Given the description of an element on the screen output the (x, y) to click on. 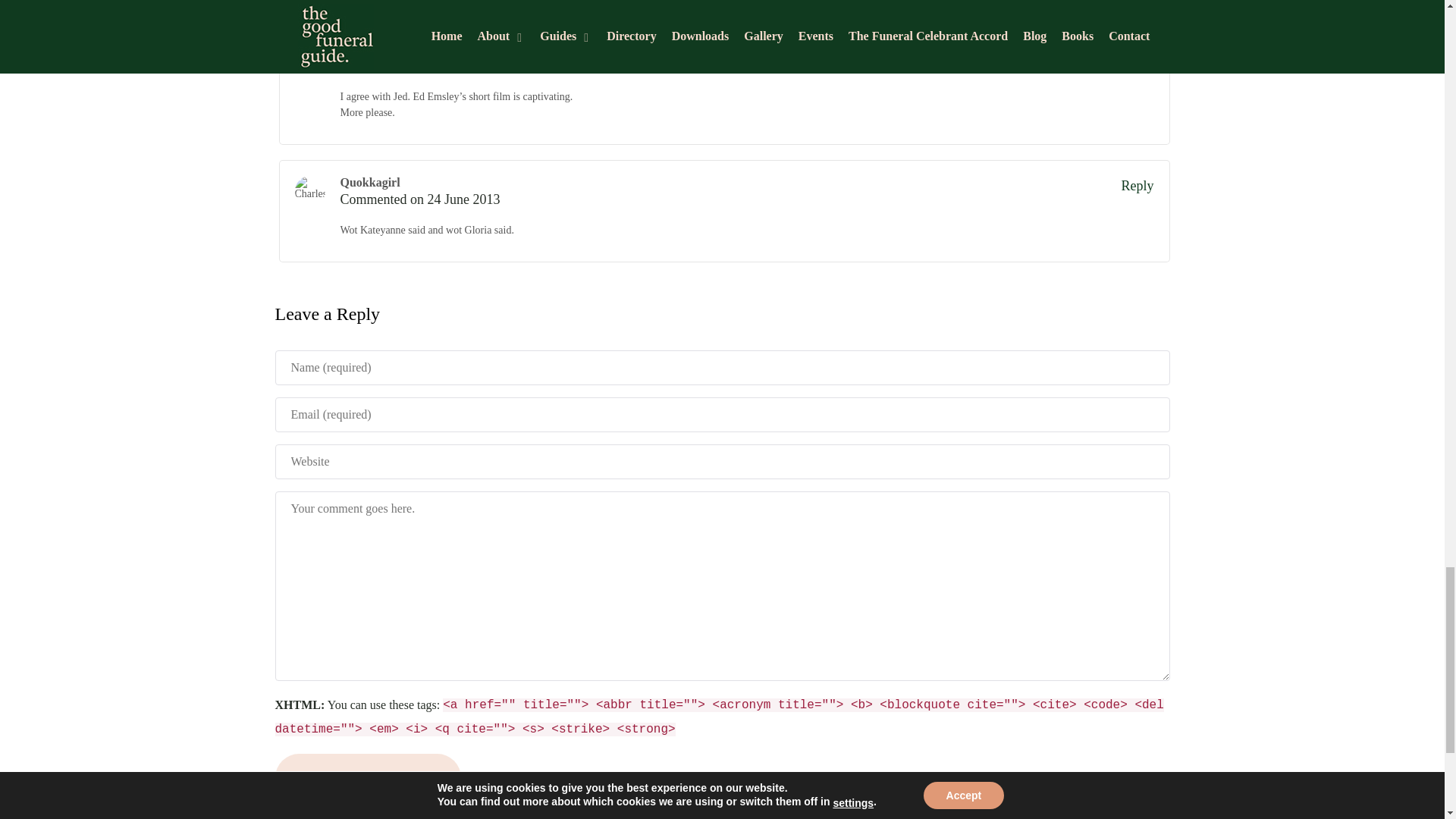
Charles (309, 191)
Charles (309, 57)
Submit Comment (368, 777)
